Given the description of an element on the screen output the (x, y) to click on. 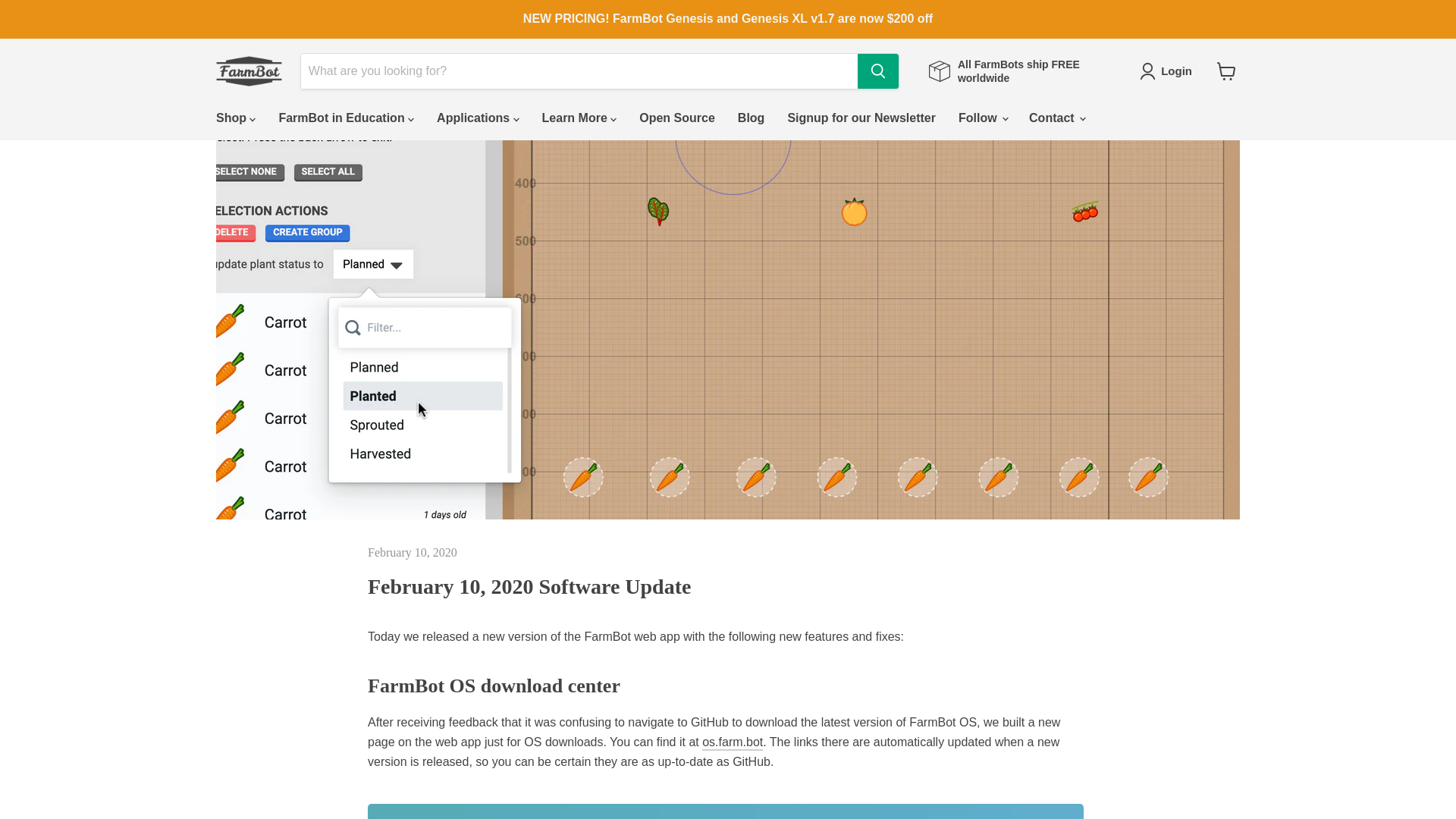
View cart (1226, 70)
Shop now (1018, 71)
All FarmBots ship FREE worldwide (1018, 71)
Login (1169, 71)
FarmBot Homepage (248, 71)
